Given the description of an element on the screen output the (x, y) to click on. 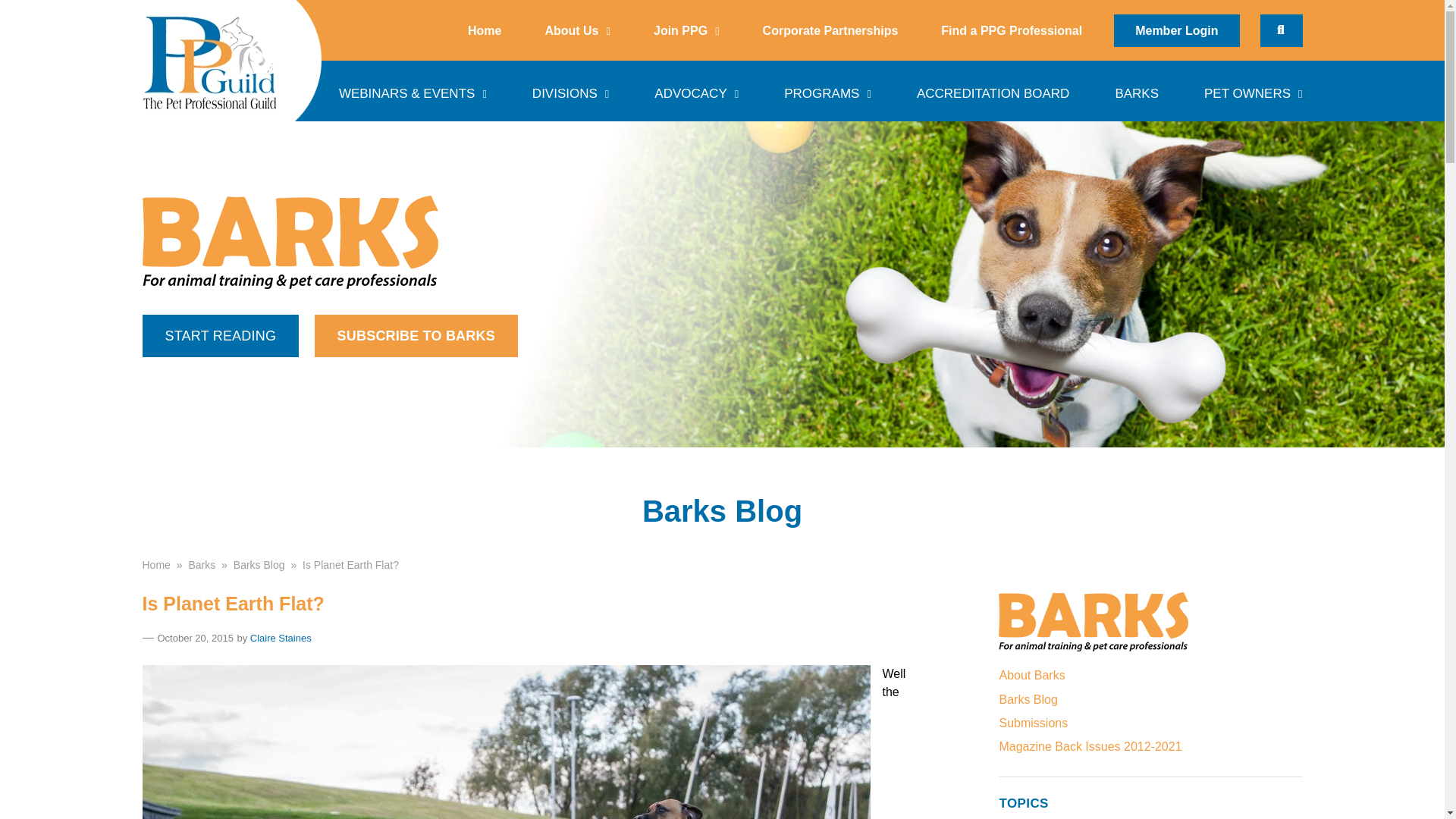
Member Login (1176, 29)
Go to Barks. (201, 563)
About Us (576, 30)
Join PPG (686, 30)
Go to Barks Blog. (258, 563)
Go to Pet Professional Guild. (156, 563)
Corporate Partnerships (830, 30)
Find a PPG Professional (1011, 30)
DIVISIONS (570, 90)
Home (484, 30)
